Given the description of an element on the screen output the (x, y) to click on. 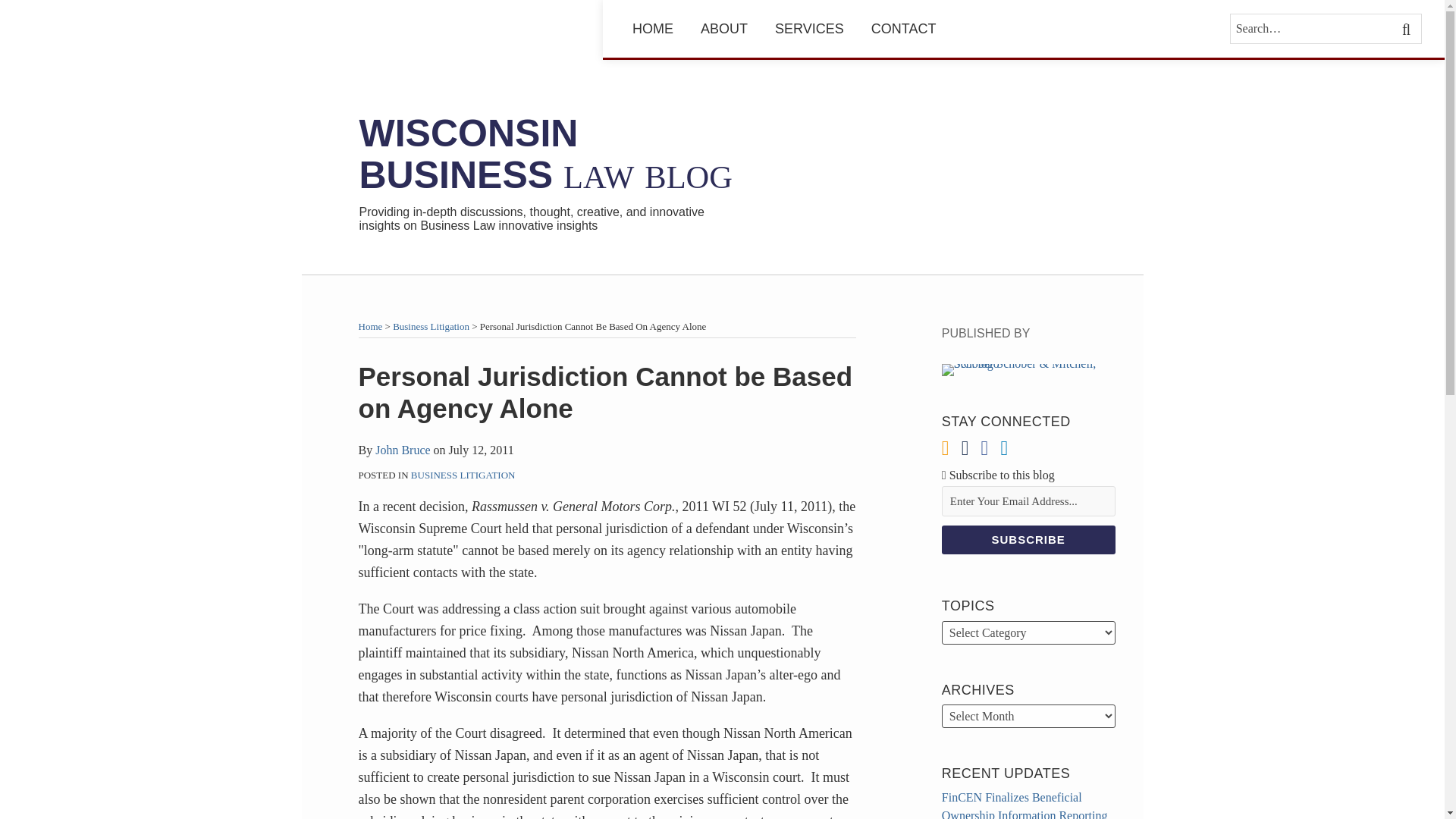
BUSINESS LITIGATION (462, 474)
CONTACT (903, 28)
SERVICES (809, 28)
Business Litigation (430, 326)
SEARCH (1407, 28)
Subscribe (1028, 539)
Subscribe (1028, 539)
Home (369, 326)
HOME (651, 28)
ABOUT (724, 28)
John Bruce (402, 449)
WISCONSIN BUSINESS LAW BLOG (546, 154)
